Given the description of an element on the screen output the (x, y) to click on. 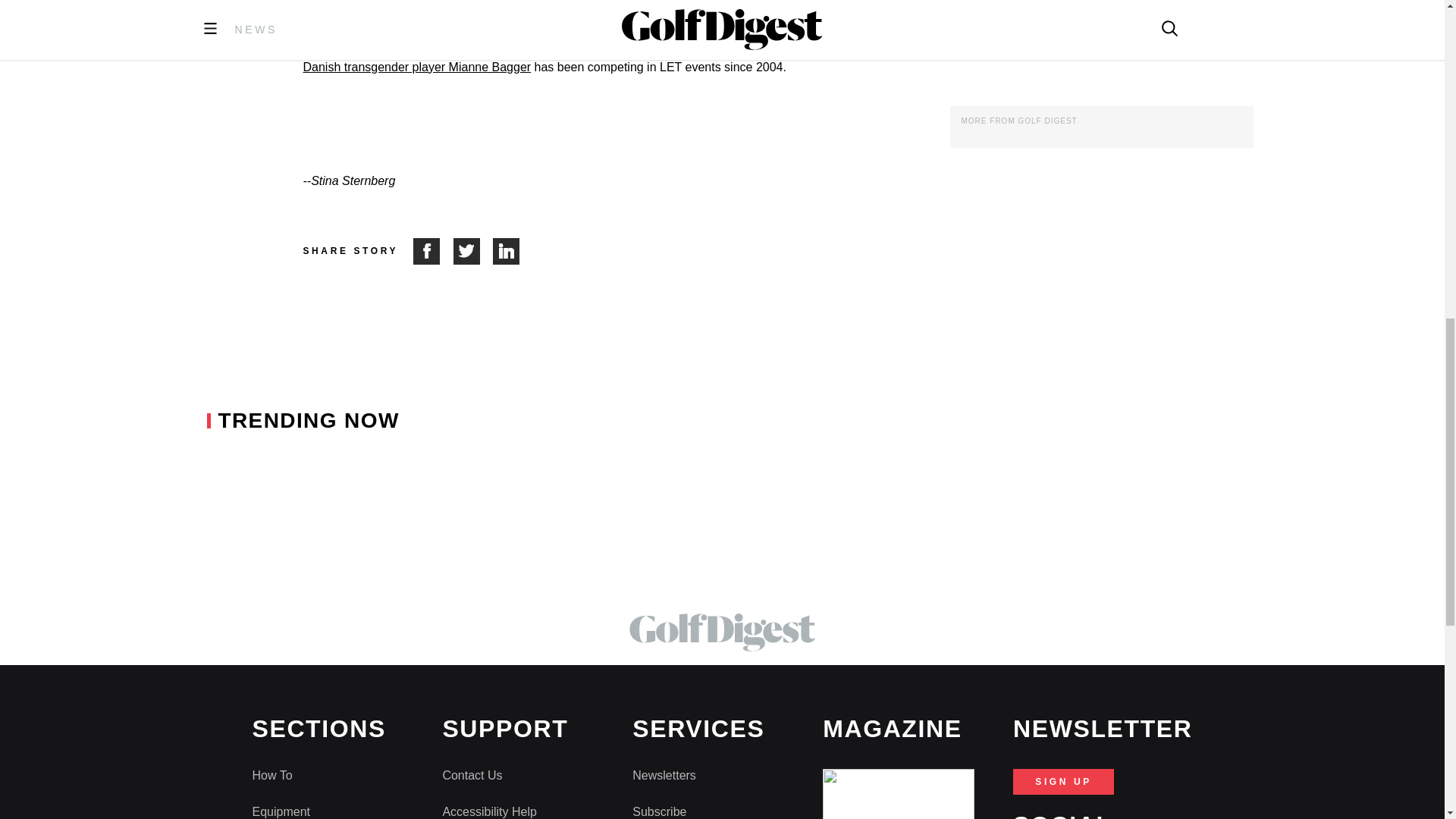
Share on LinkedIn (506, 251)
Share on Facebook (432, 251)
Share on Twitter (472, 251)
